Given the description of an element on the screen output the (x, y) to click on. 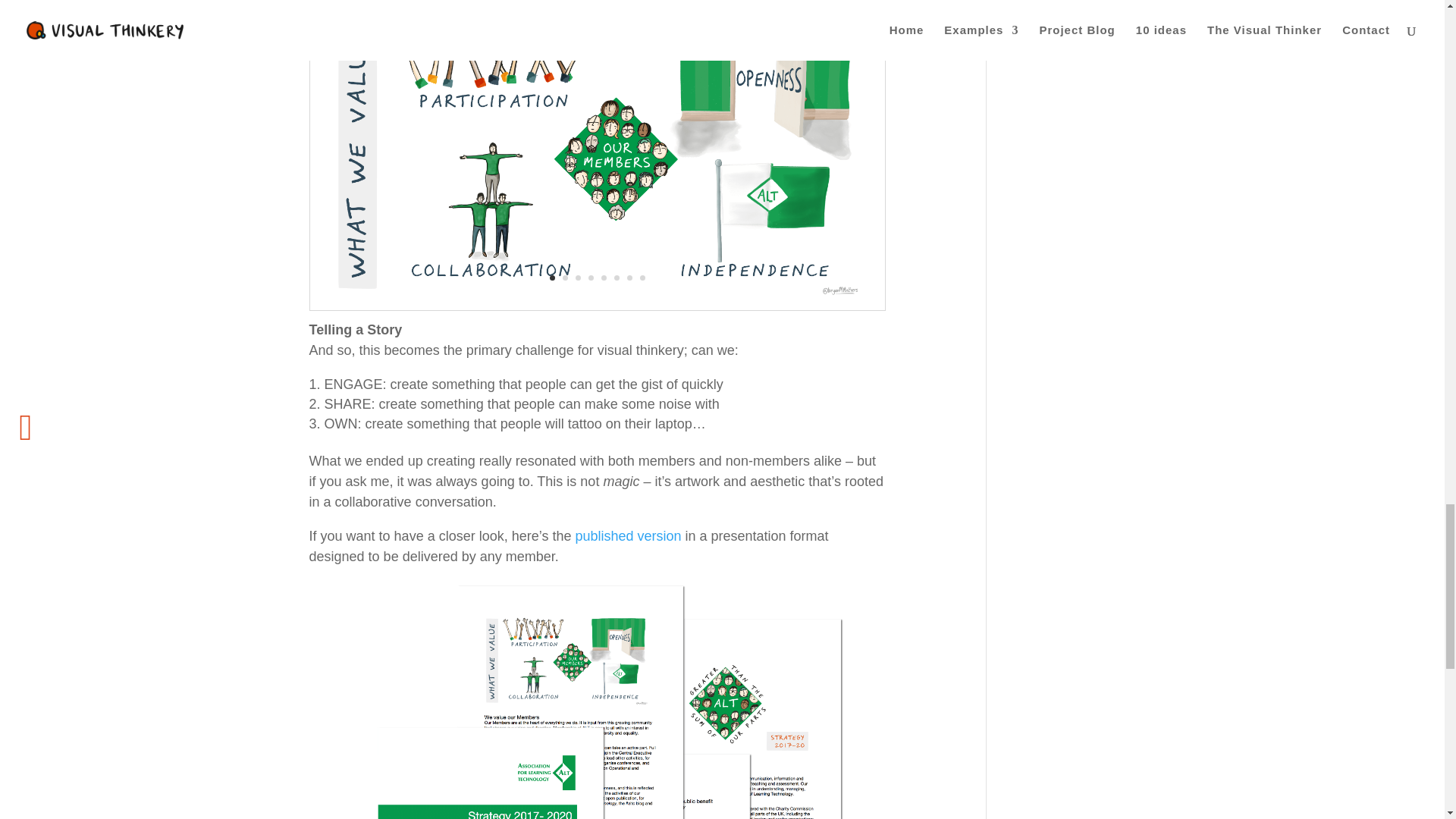
ALT Strategy: What we value (597, 309)
